Given the description of an element on the screen output the (x, y) to click on. 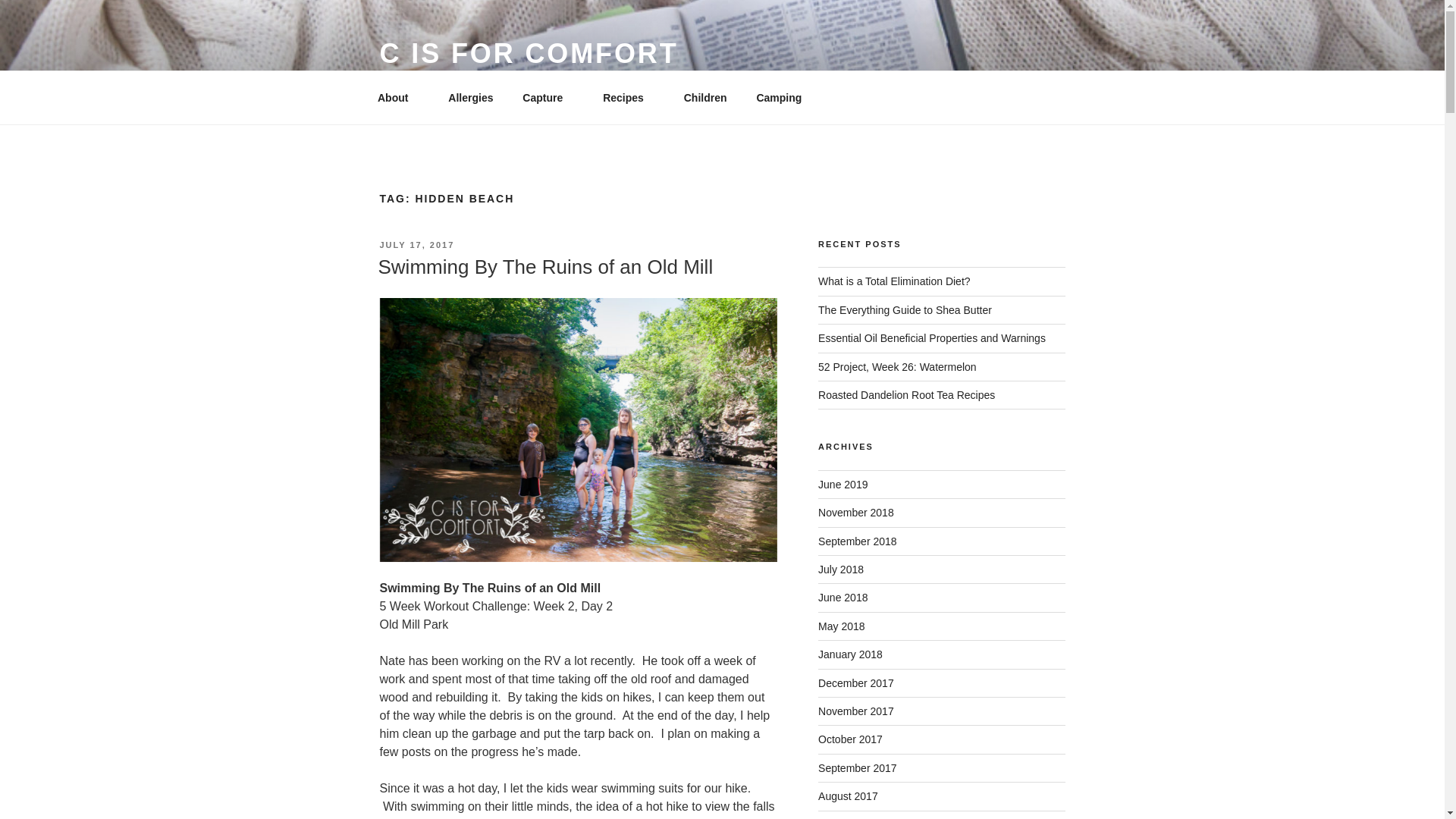
JULY 17, 2017 (416, 244)
Recipes (628, 97)
November 2018 (855, 512)
November 2017 (855, 711)
The Everything Guide to Shea Butter (904, 309)
January 2018 (850, 654)
52 Project, Week 26: Watermelon (897, 367)
Swimming By The Ruins of an Old Mill (545, 266)
December 2017 (855, 683)
June 2019 (842, 484)
